Given the description of an element on the screen output the (x, y) to click on. 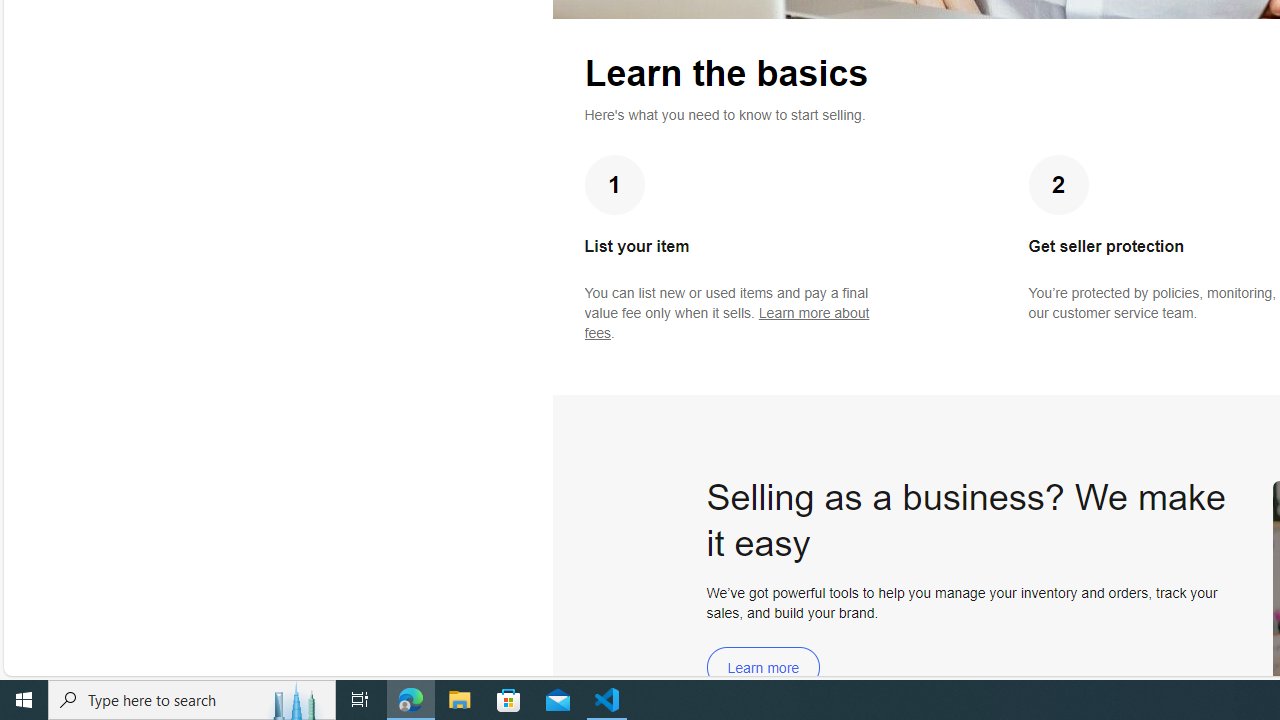
Learn more (763, 667)
Learn more about fees - opens in new window or tab. (726, 323)
